Given the description of an element on the screen output the (x, y) to click on. 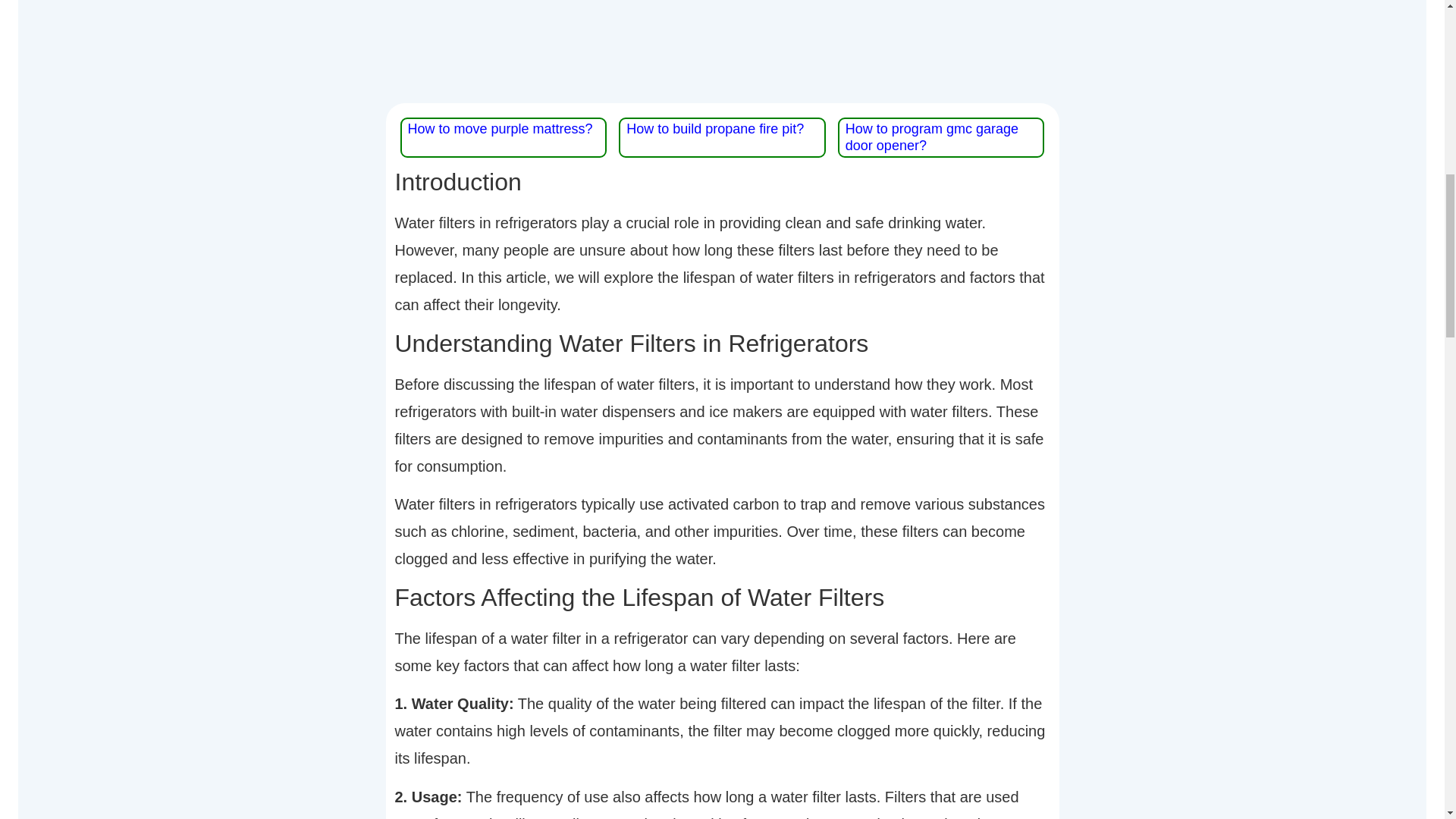
How to program gmc garage door opener? (931, 137)
How to move purple mattress? (499, 128)
Introduction (721, 181)
Understanding Water Filters in Refrigerators (721, 343)
How to build propane fire pit? (714, 128)
Factors Affecting the Lifespan of Water Filters (721, 597)
